Given the description of an element on the screen output the (x, y) to click on. 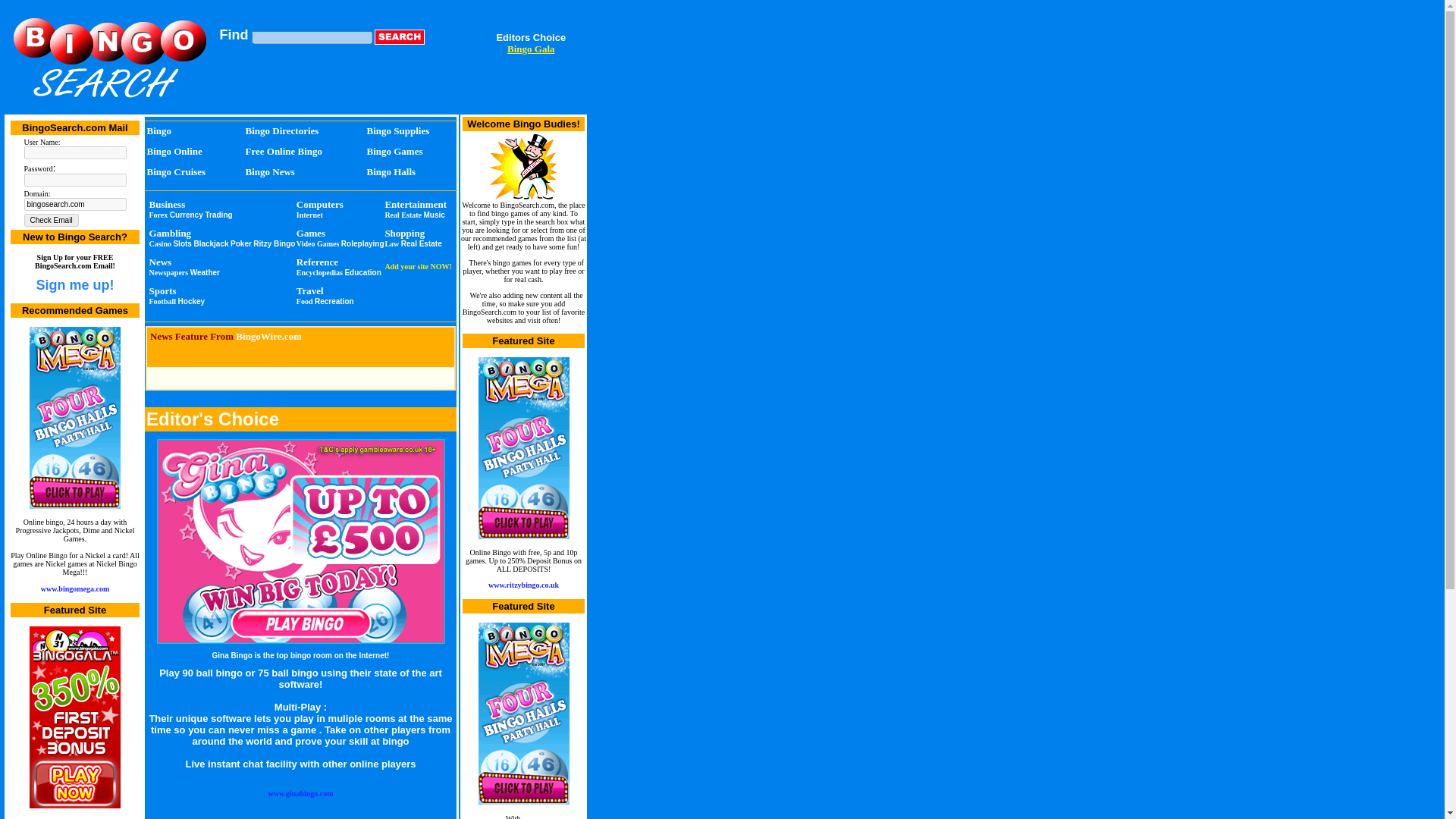
Real Estate (403, 214)
Slots (181, 243)
Check Email (51, 219)
Blackjack (210, 243)
Weather (204, 272)
News (159, 262)
Games (310, 234)
Gambling (169, 234)
Currency Trading (201, 214)
Roleplaying (362, 243)
Law (391, 243)
Bingo Online (174, 152)
Newspapers (167, 272)
www.bingomega.com (75, 588)
Free Online Bingo (284, 152)
